Given the description of an element on the screen output the (x, y) to click on. 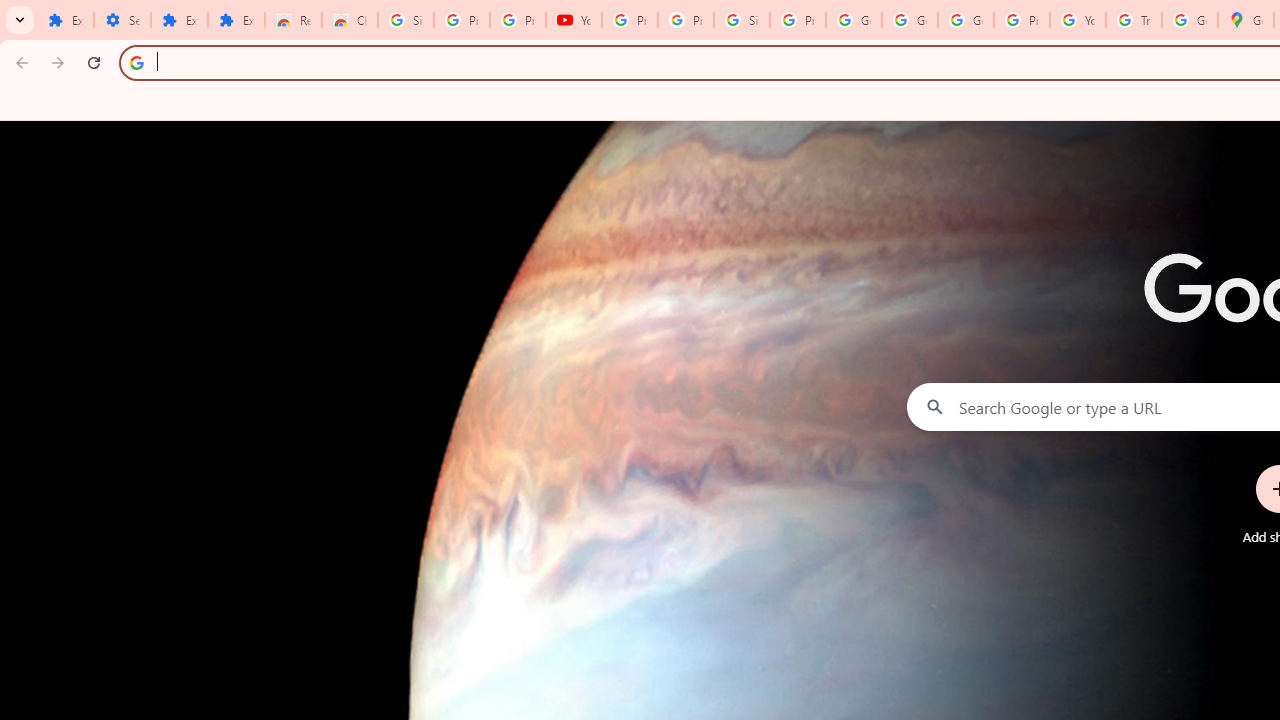
Chrome Web Store - Themes (349, 20)
Reviews: Helix Fruit Jump Arcade Game (293, 20)
Sign in - Google Accounts (742, 20)
YouTube (573, 20)
Extensions (65, 20)
Extensions (179, 20)
